Given the description of an element on the screen output the (x, y) to click on. 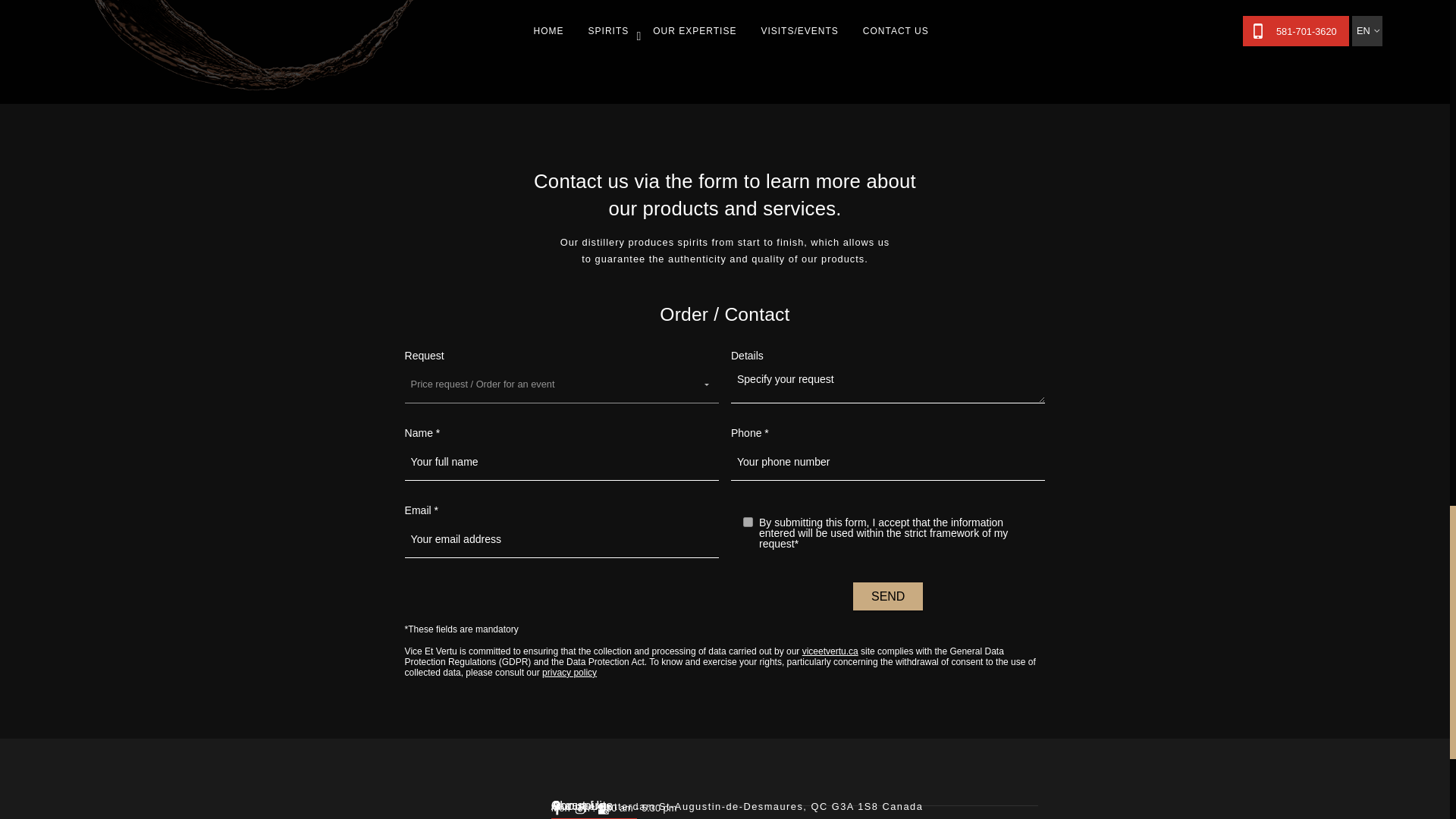
viceetvertu.ca (830, 651)
privacy policy (568, 672)
rgpd-checked (747, 521)
Send (888, 596)
Send (888, 596)
